Given the description of an element on the screen output the (x, y) to click on. 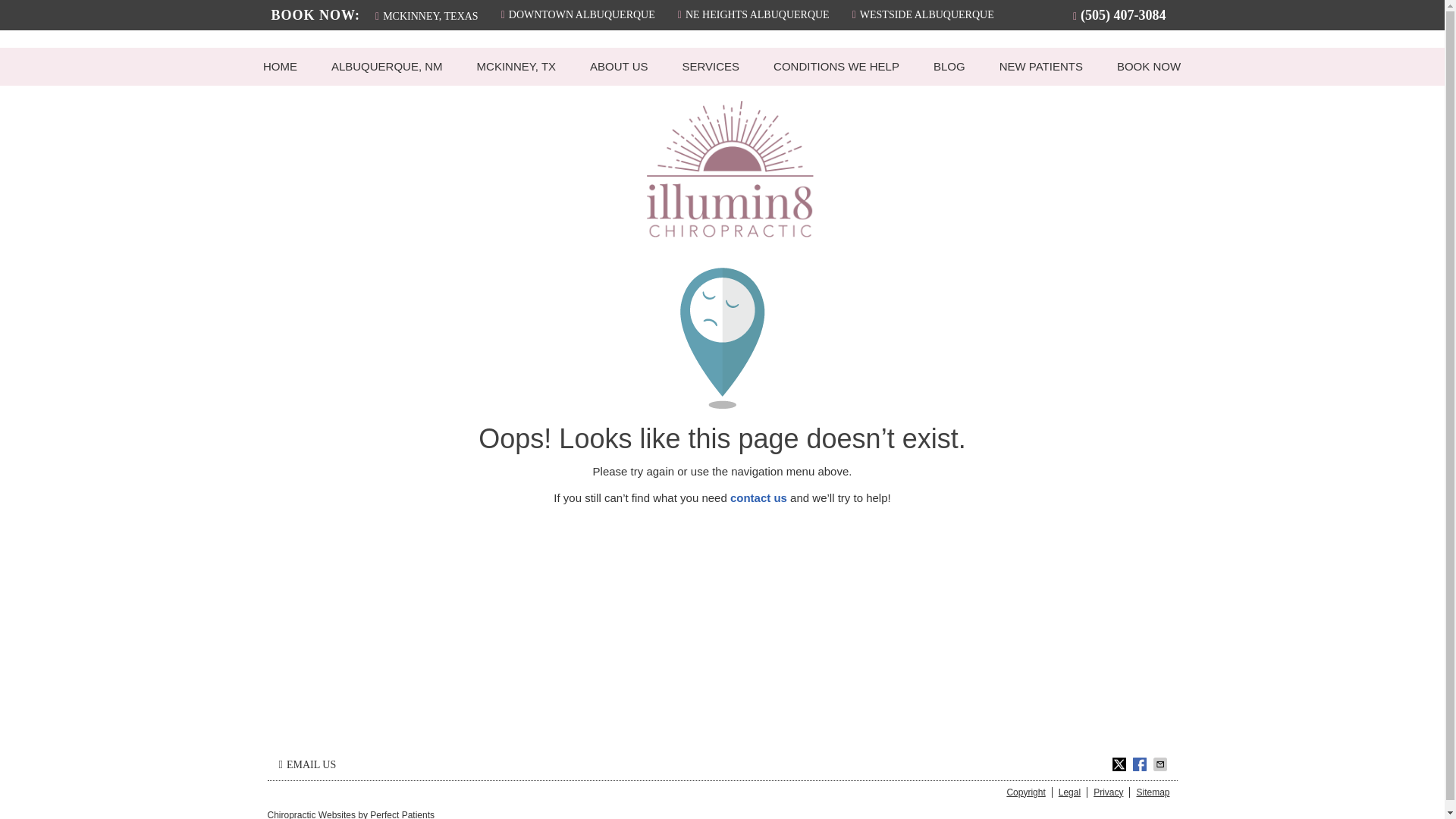
Welcome to Illumin8 Chiropractic (729, 232)
MCKINNEY, TEXAS (427, 15)
NE HEIGHTS ALBUQUERQUE (753, 14)
SERVICES (711, 65)
ABOUT US (619, 65)
MCKINNEY, TX (516, 65)
DOWNTOWN ALBUQUERQUE (577, 14)
Contact (306, 763)
HOME (280, 65)
CONDITIONS WE HELP (837, 65)
